Given the description of an element on the screen output the (x, y) to click on. 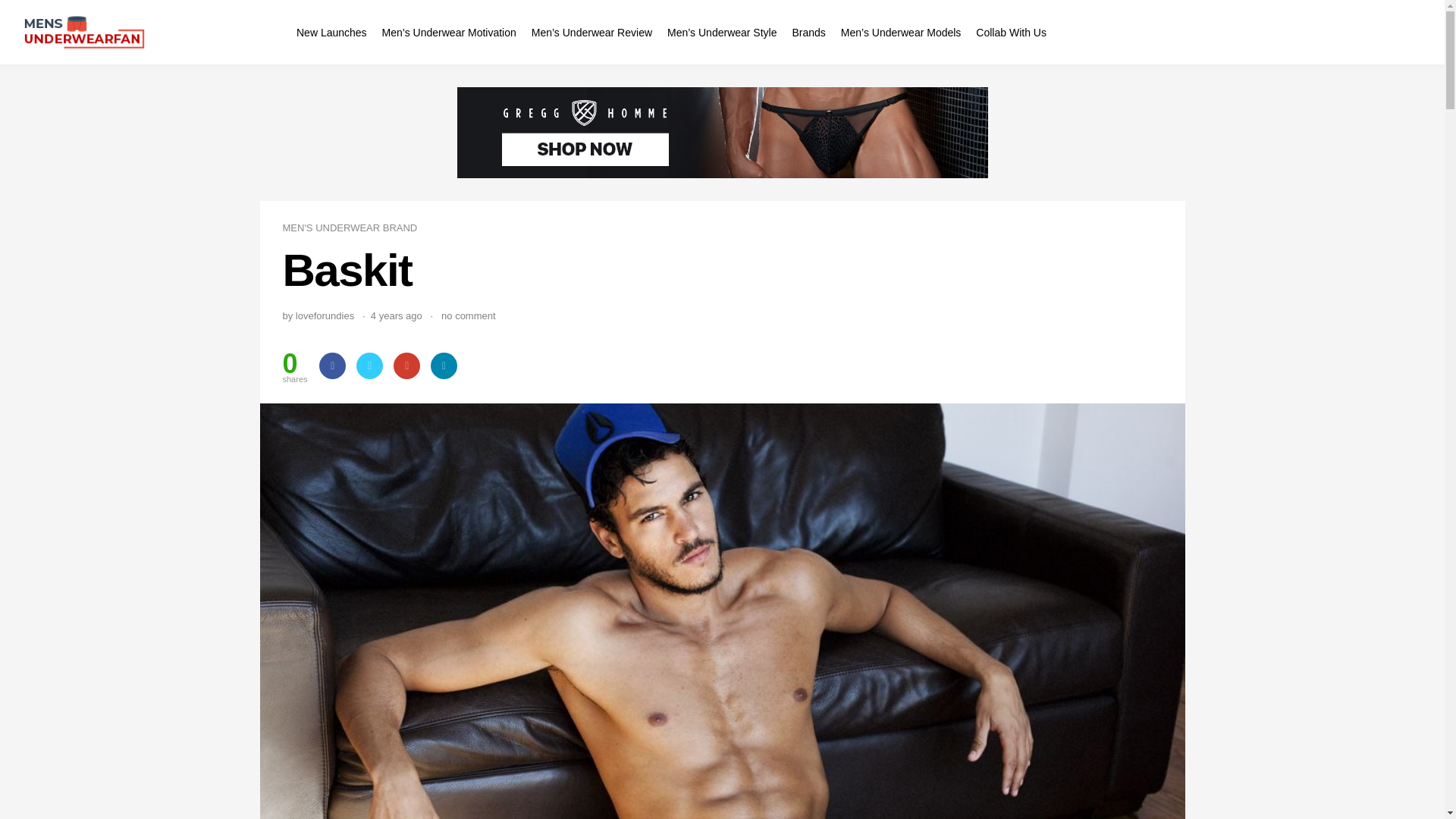
no comment (468, 315)
Baskit (721, 270)
New Launches (331, 31)
MEN'S UNDERWEAR BRAND (349, 227)
Collab With Us (1010, 31)
